Given the description of an element on the screen output the (x, y) to click on. 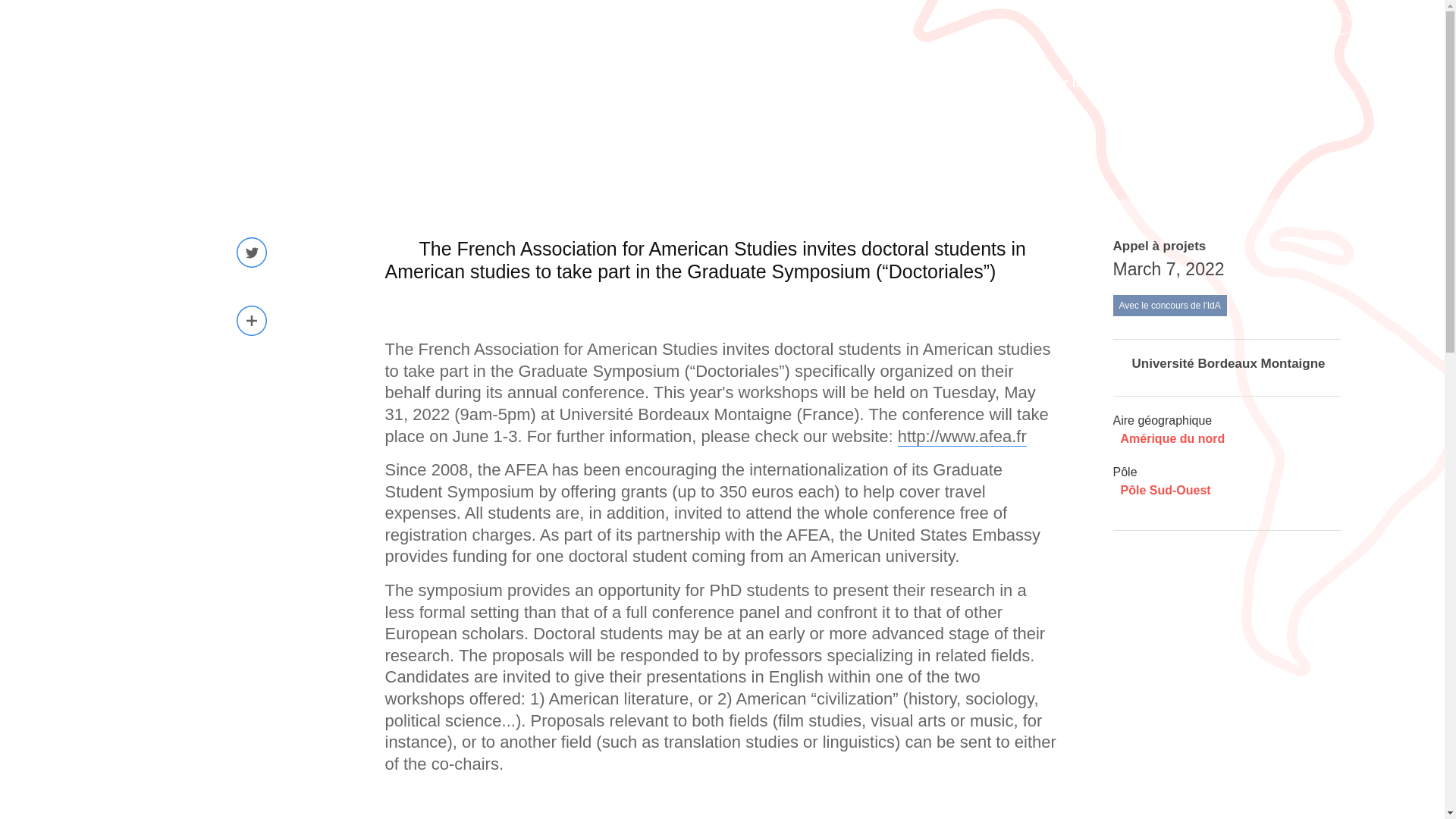
Pour la recherche (1098, 83)
Annuaire (1294, 83)
Accueil (208, 91)
Qui sommes-nous (826, 83)
Agenda (1212, 83)
